Given the description of an element on the screen output the (x, y) to click on. 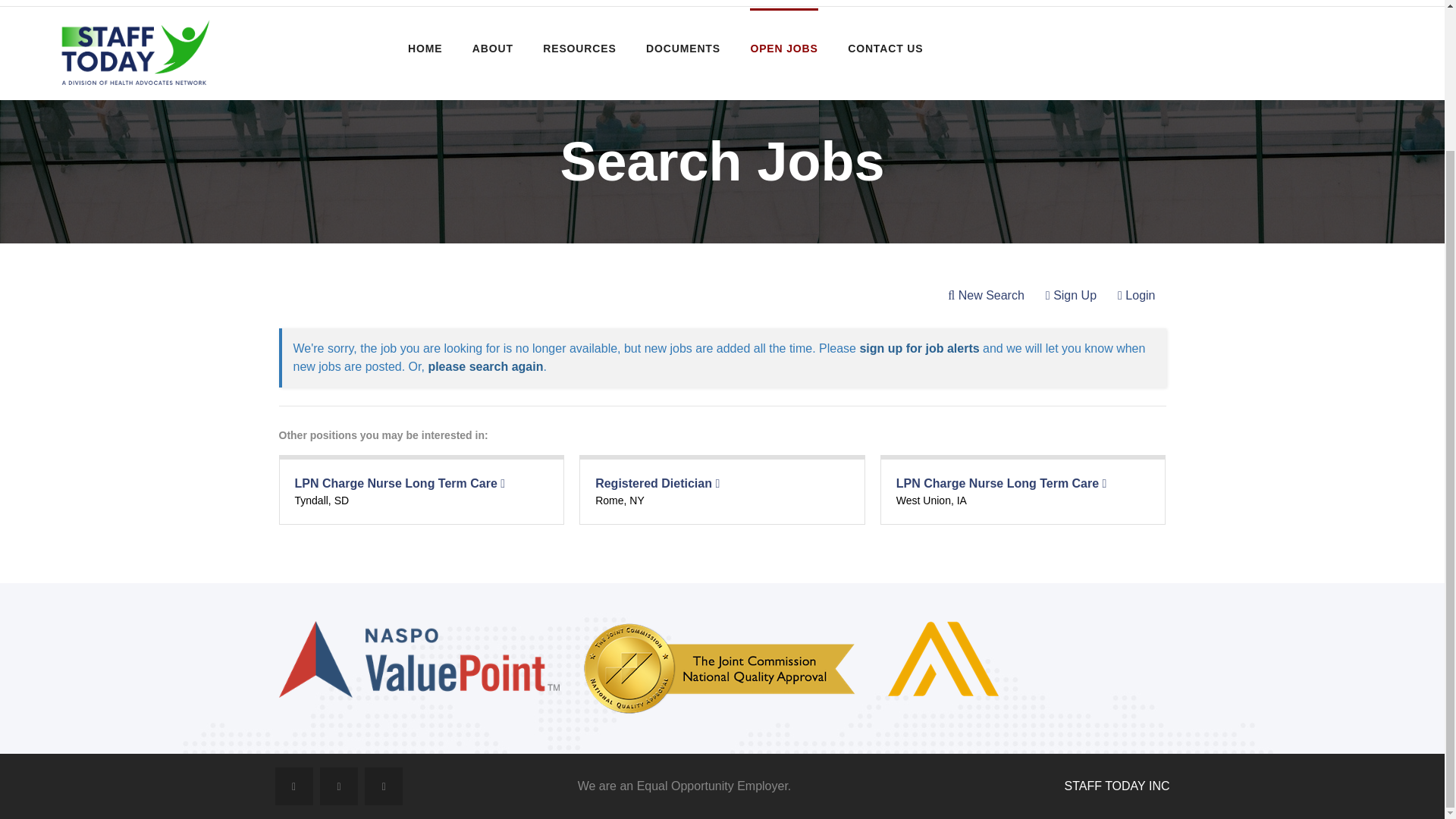
LPN Charge Nurse Long Term Care (1001, 482)
Sign Up (1070, 295)
STAFF TODAY INC (1117, 785)
sign up for job alerts (918, 348)
New Search (986, 295)
DOCUMENTS (683, 48)
Registered Dietician (657, 482)
please search again (485, 366)
CONTACT US (885, 48)
RESOURCES (579, 48)
Login (1135, 295)
LPN Charge Nurse Long Term Care (399, 482)
